Given the description of an element on the screen output the (x, y) to click on. 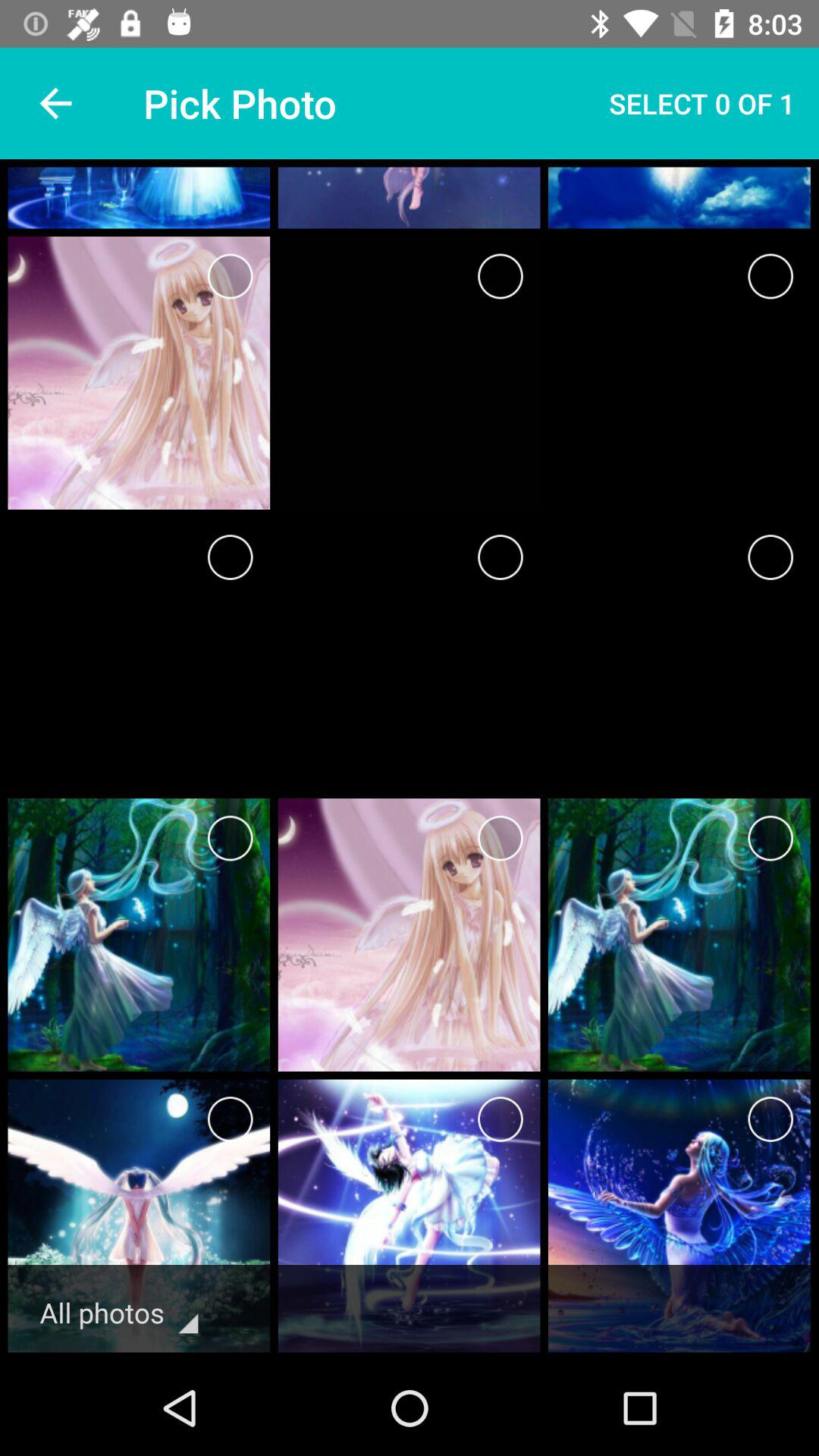
select photo (770, 557)
